Given the description of an element on the screen output the (x, y) to click on. 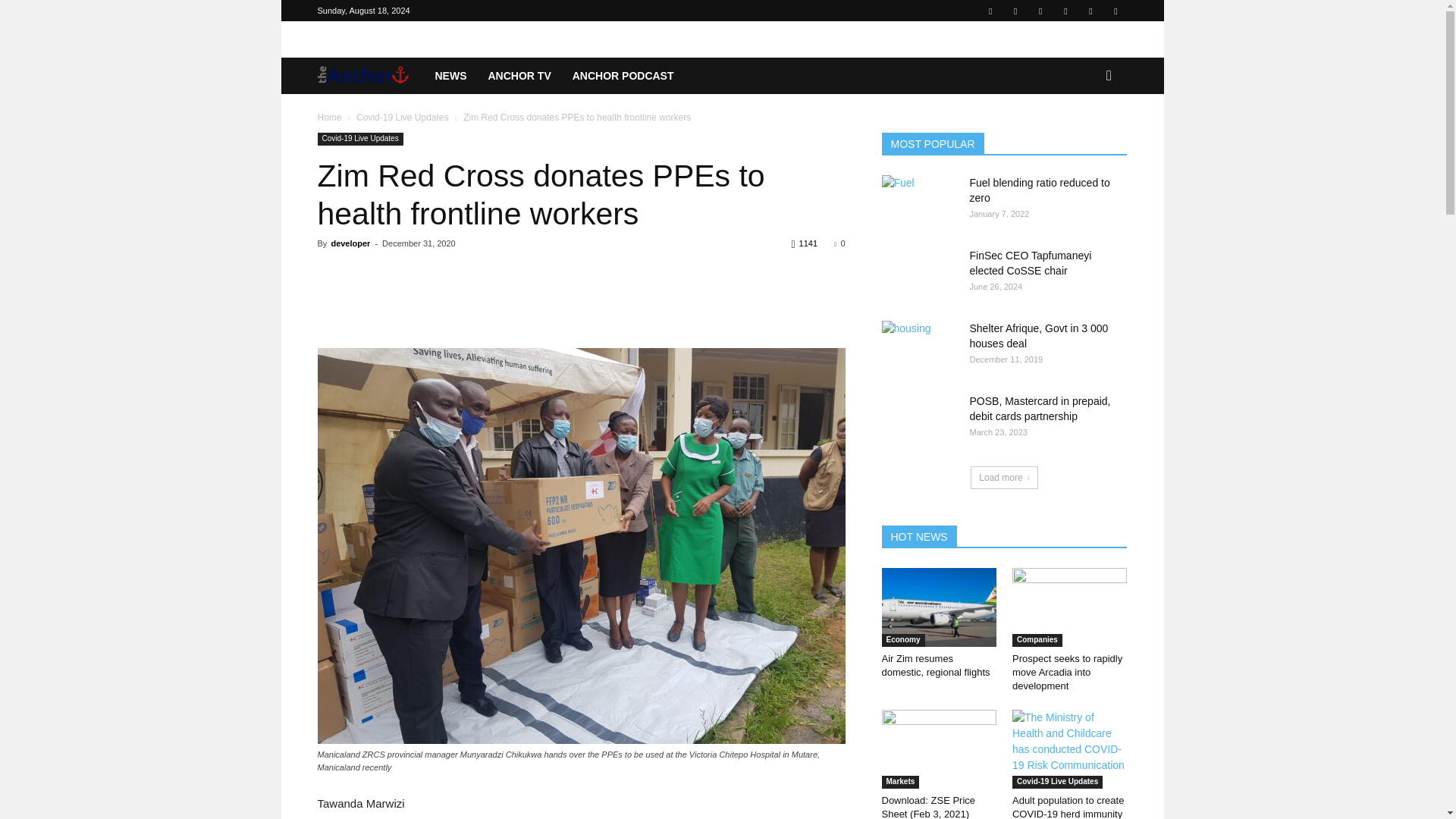
Search (1085, 136)
ANCHOR PODCAST (623, 75)
Linkedin (1015, 10)
ANCHOR TV (519, 75)
NEWS (451, 75)
Mail (1040, 10)
Twitter (1065, 10)
Facebook (989, 10)
Vimeo (1090, 10)
Home (328, 117)
